Given the description of an element on the screen output the (x, y) to click on. 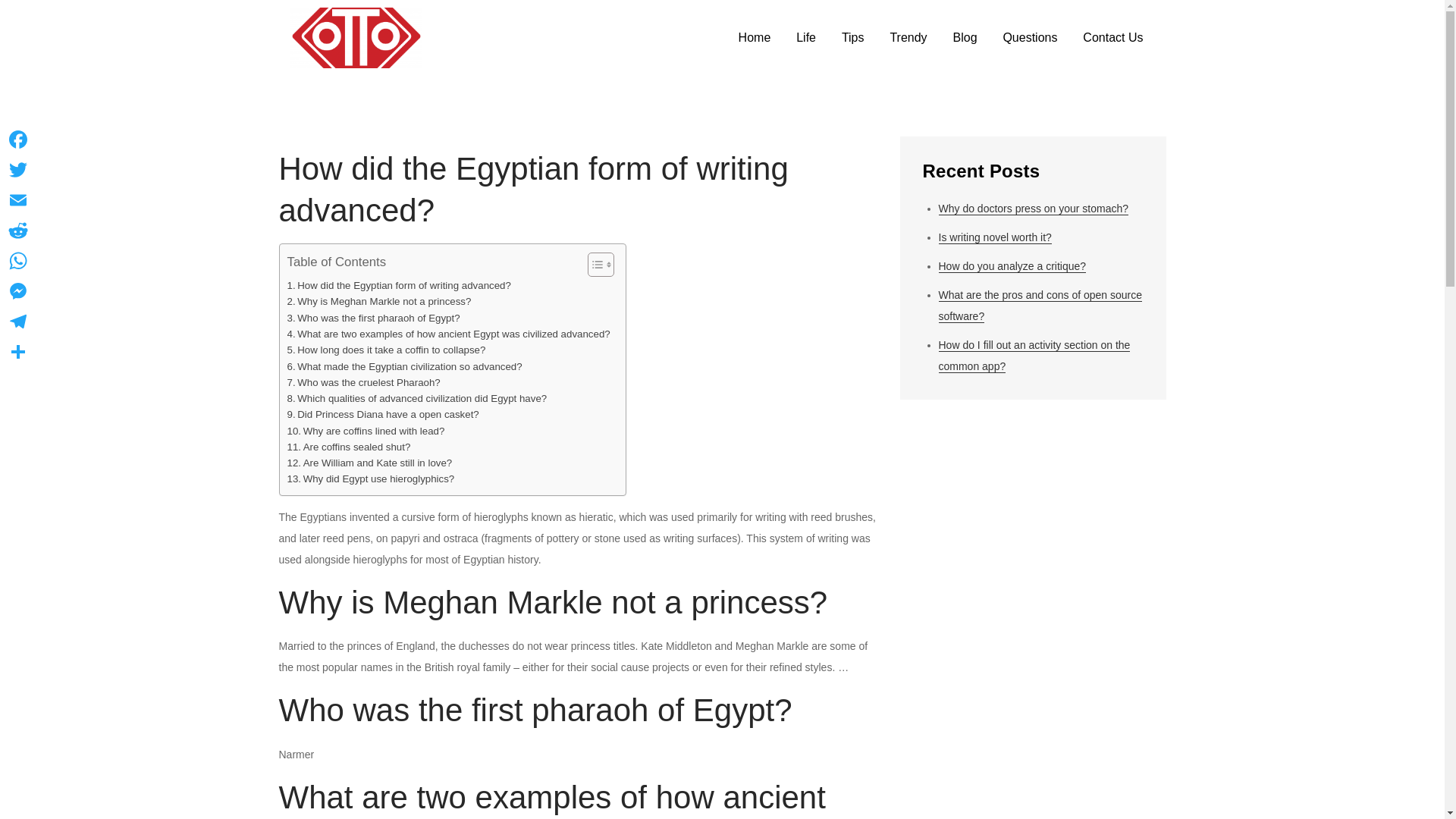
What made the Egyptian civilization so advanced? (403, 366)
Who was the first pharaoh of Egypt? (373, 317)
Who was the cruelest Pharaoh? (362, 382)
Who was the cruelest Pharaoh? (362, 382)
Why are coffins lined with lead? (365, 430)
Did Princess Diana have a open casket? (382, 414)
Why do doctors press on your stomach? (1034, 208)
How did the Egyptian form of writing advanced? (398, 285)
Are coffins sealed shut? (348, 446)
Life (805, 38)
Are William and Kate still in love? (368, 462)
Trendy (907, 38)
Are coffins sealed shut? (348, 446)
Did Princess Diana have a open casket? (382, 414)
Why is Meghan Markle not a princess? (378, 301)
